Given the description of an element on the screen output the (x, y) to click on. 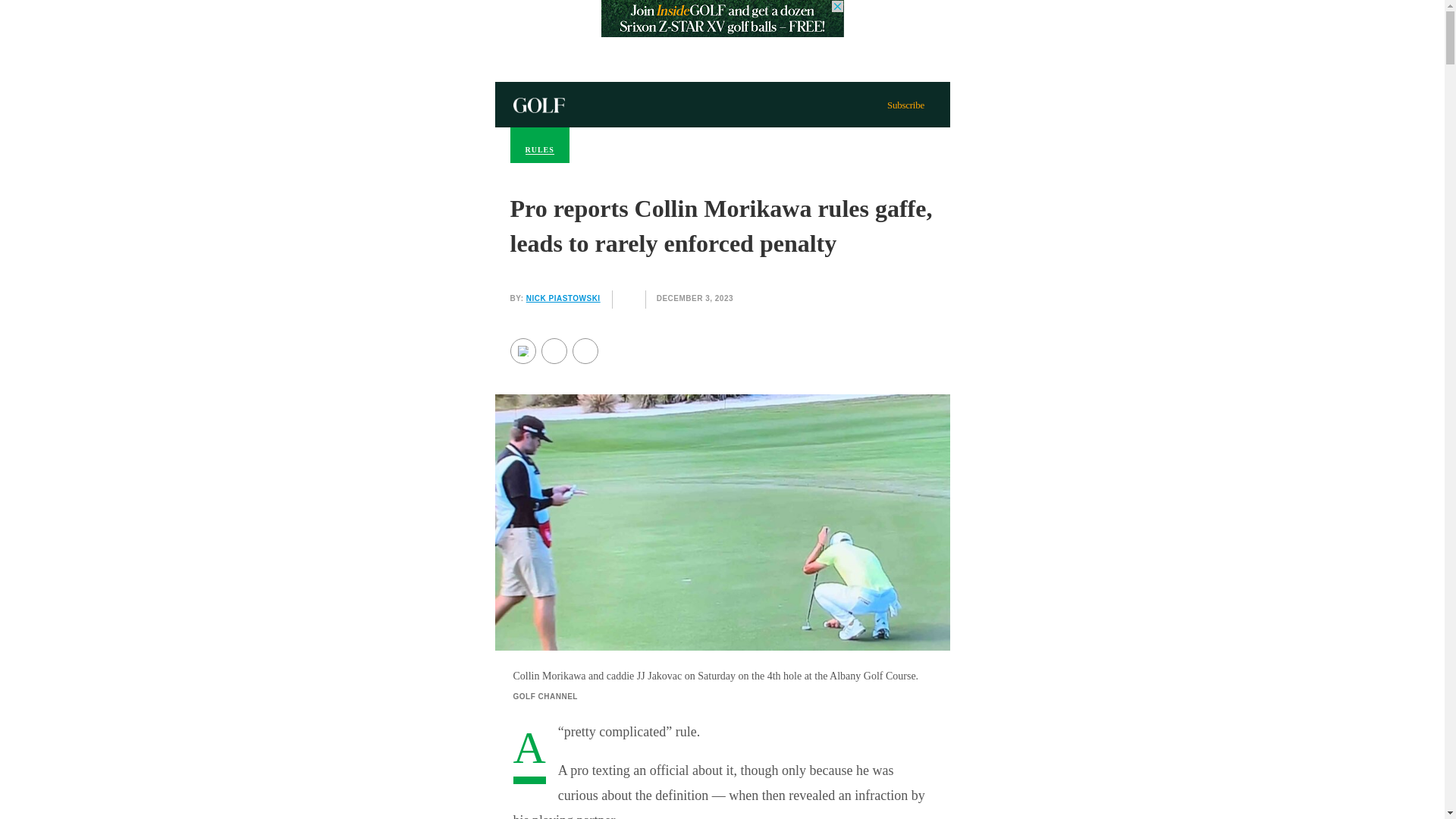
3rd party ad content (721, 18)
NICK PIASTOWSKI (562, 298)
Subscribe (905, 103)
